Given the description of an element on the screen output the (x, y) to click on. 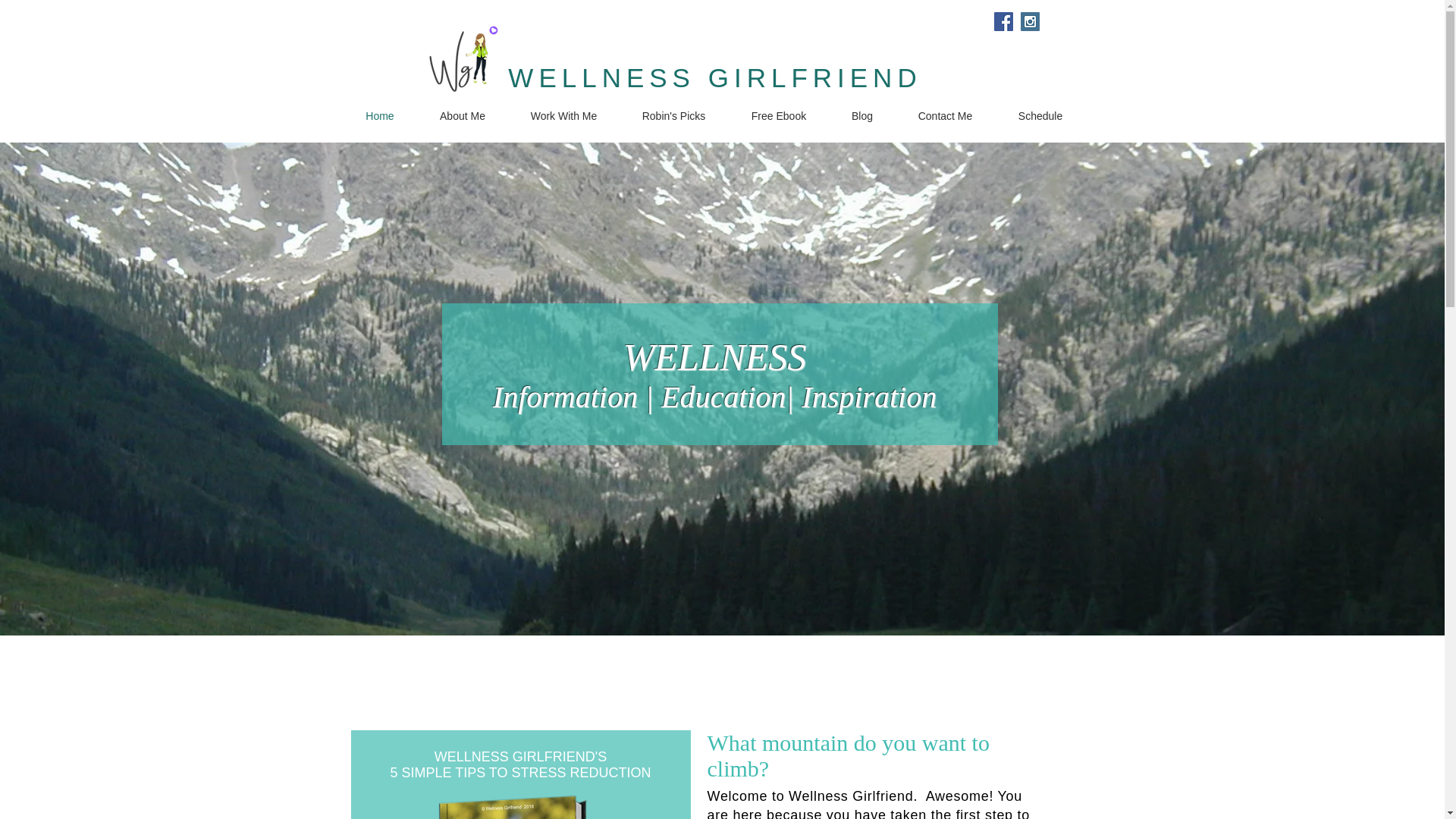
About Me (462, 115)
Robin's Picks (673, 115)
Schedule (1039, 115)
Work With Me (563, 115)
WELLNESS GIRLFRIEND (714, 77)
Home (379, 115)
WG Logo 20220211.png (461, 59)
Blog (862, 115)
Free Ebook (778, 115)
Contact Me (944, 115)
